Given the description of an element on the screen output the (x, y) to click on. 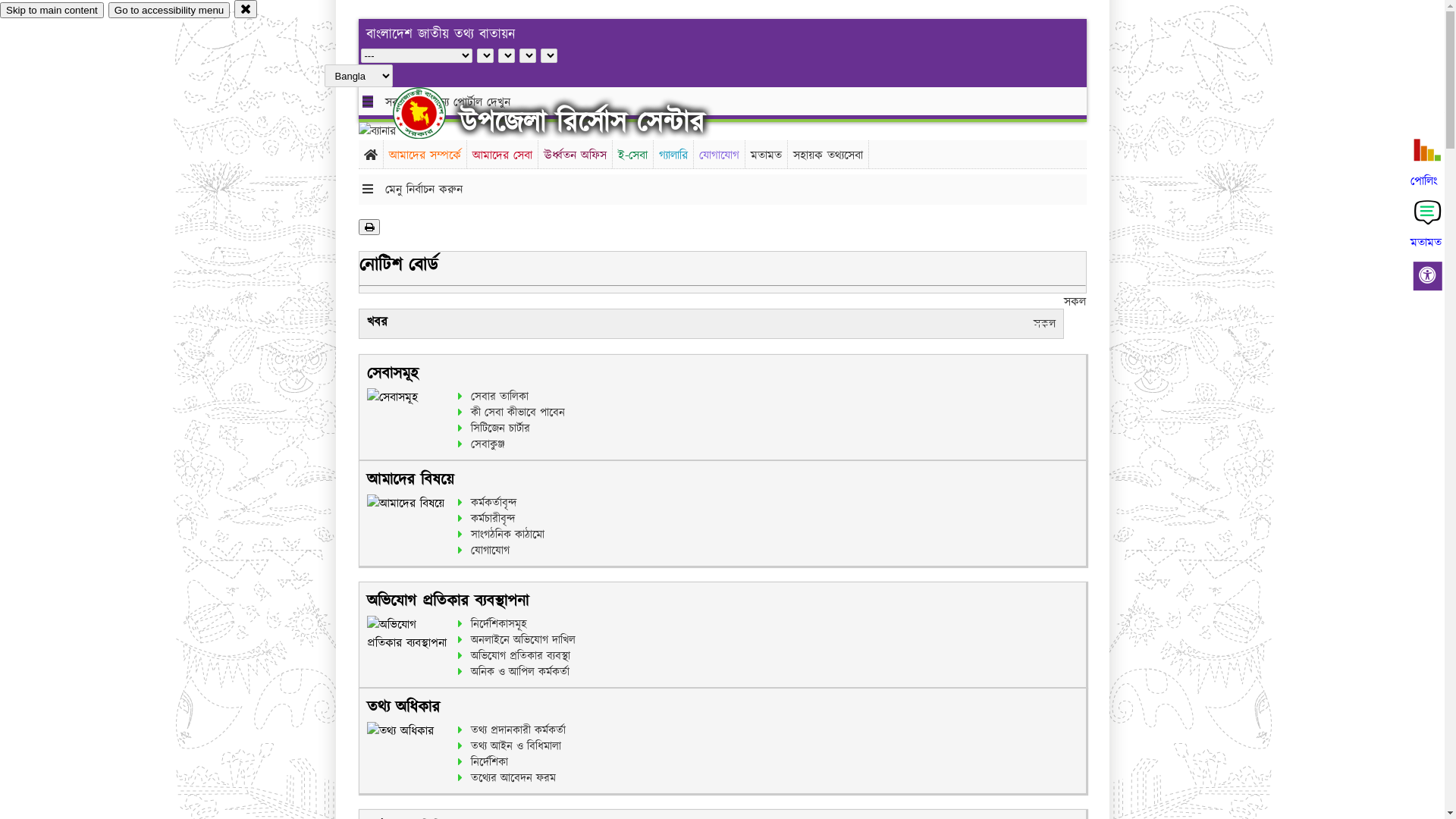
Go to accessibility menu Element type: text (168, 10)
Skip to main content Element type: text (51, 10)

                
             Element type: hover (431, 112)
close Element type: hover (245, 9)
